Given the description of an element on the screen output the (x, y) to click on. 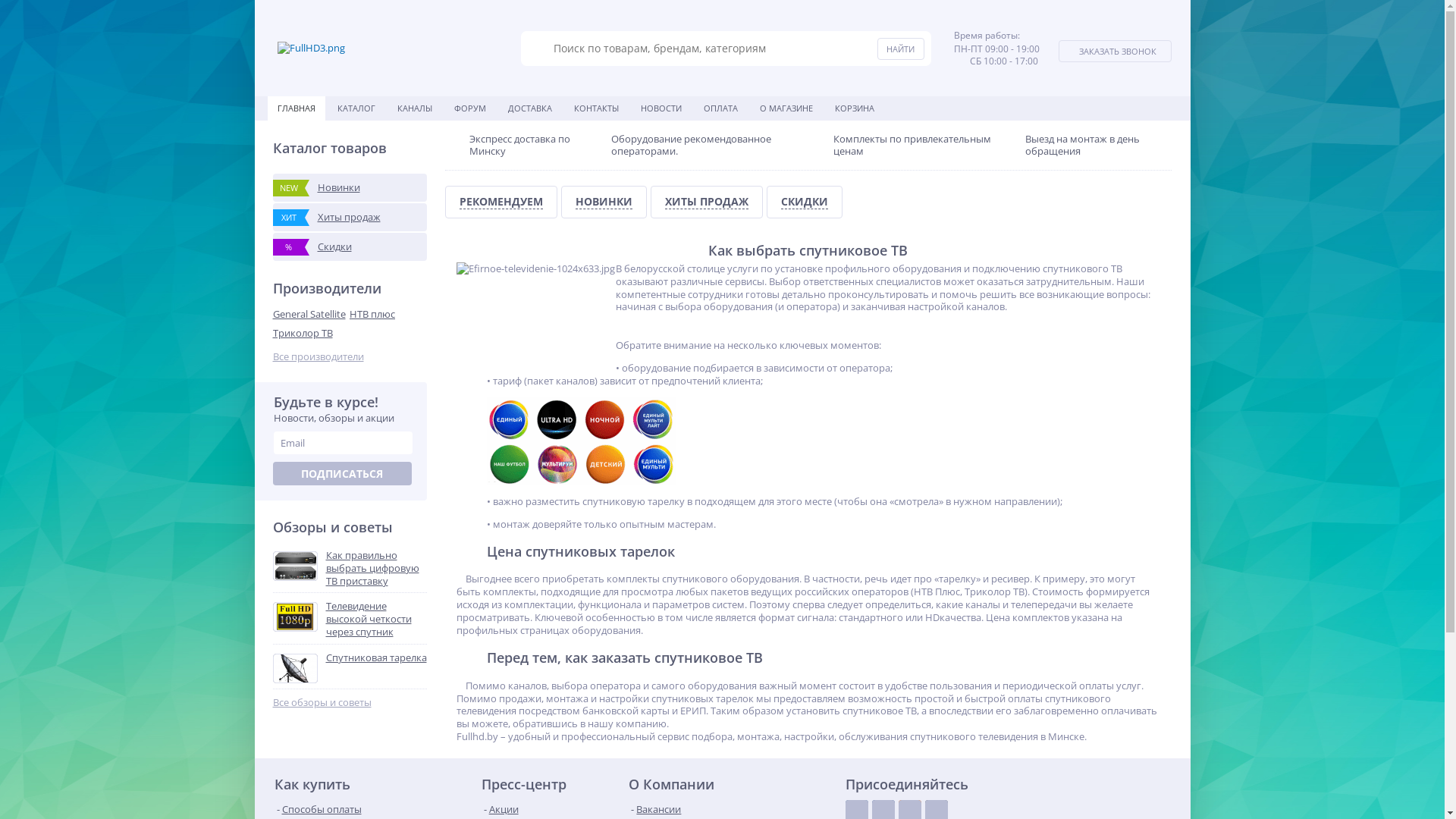
FullHD3.png Element type: hover (311, 47)
satellite-TV Element type: hover (535, 313)
1e2ef0b106b1b064964525b8d5d65ec1.png Element type: hover (581, 441)
General Satellite Element type: text (311, 313)
